Given the description of an element on the screen output the (x, y) to click on. 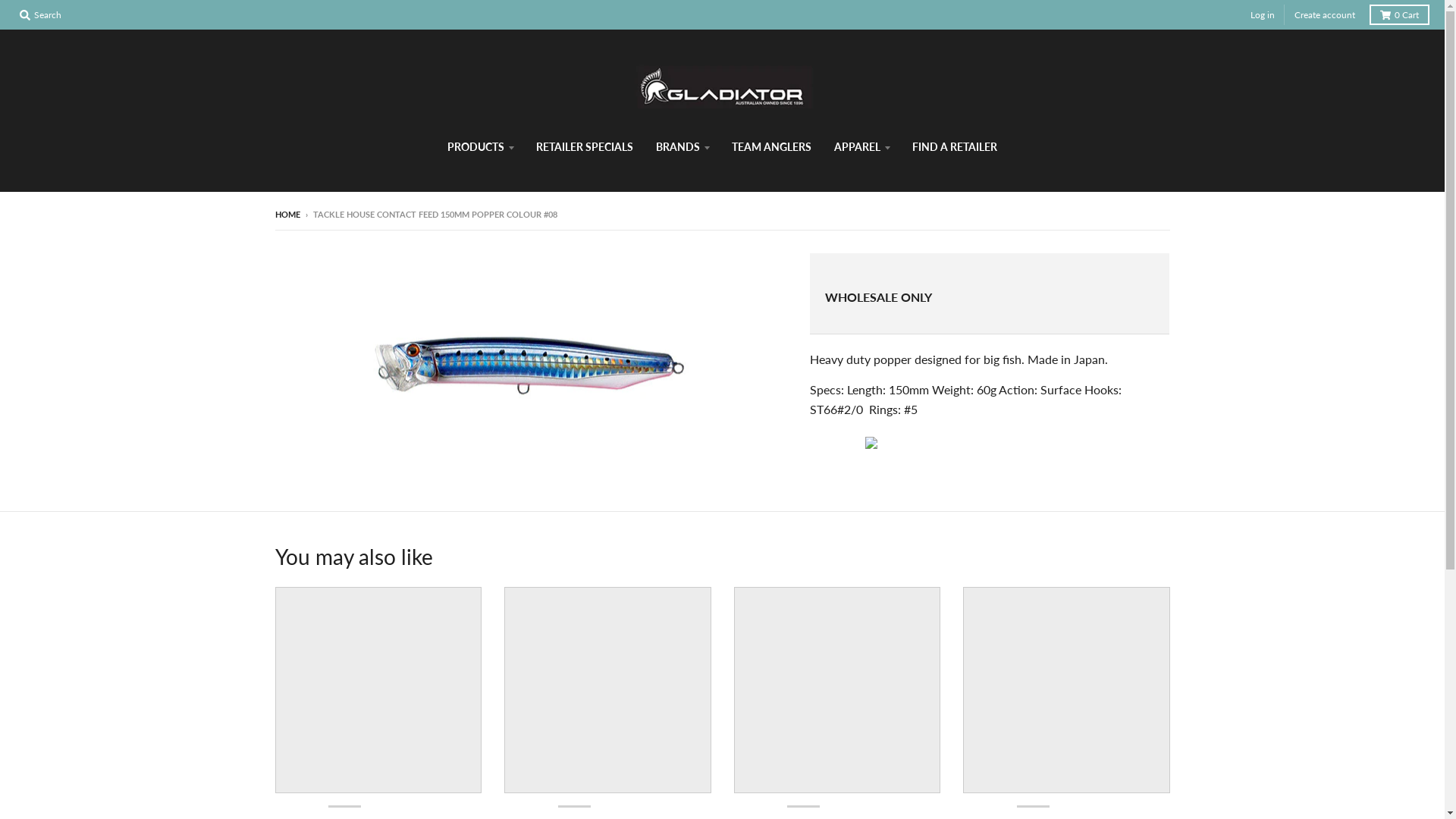
HOME Element type: text (286, 214)
Search Element type: text (40, 14)
PRODUCTS Element type: text (480, 146)
Tweet Element type: text (832, 441)
APPAREL Element type: text (861, 146)
BRANDS Element type: text (682, 146)
RETAILER SPECIALS Element type: text (584, 146)
0 Cart Element type: text (1399, 14)
FIND A RETAILER Element type: text (954, 146)
Create account Element type: text (1324, 14)
Log in Element type: text (1262, 14)
TEAM ANGLERS Element type: text (771, 146)
